Given the description of an element on the screen output the (x, y) to click on. 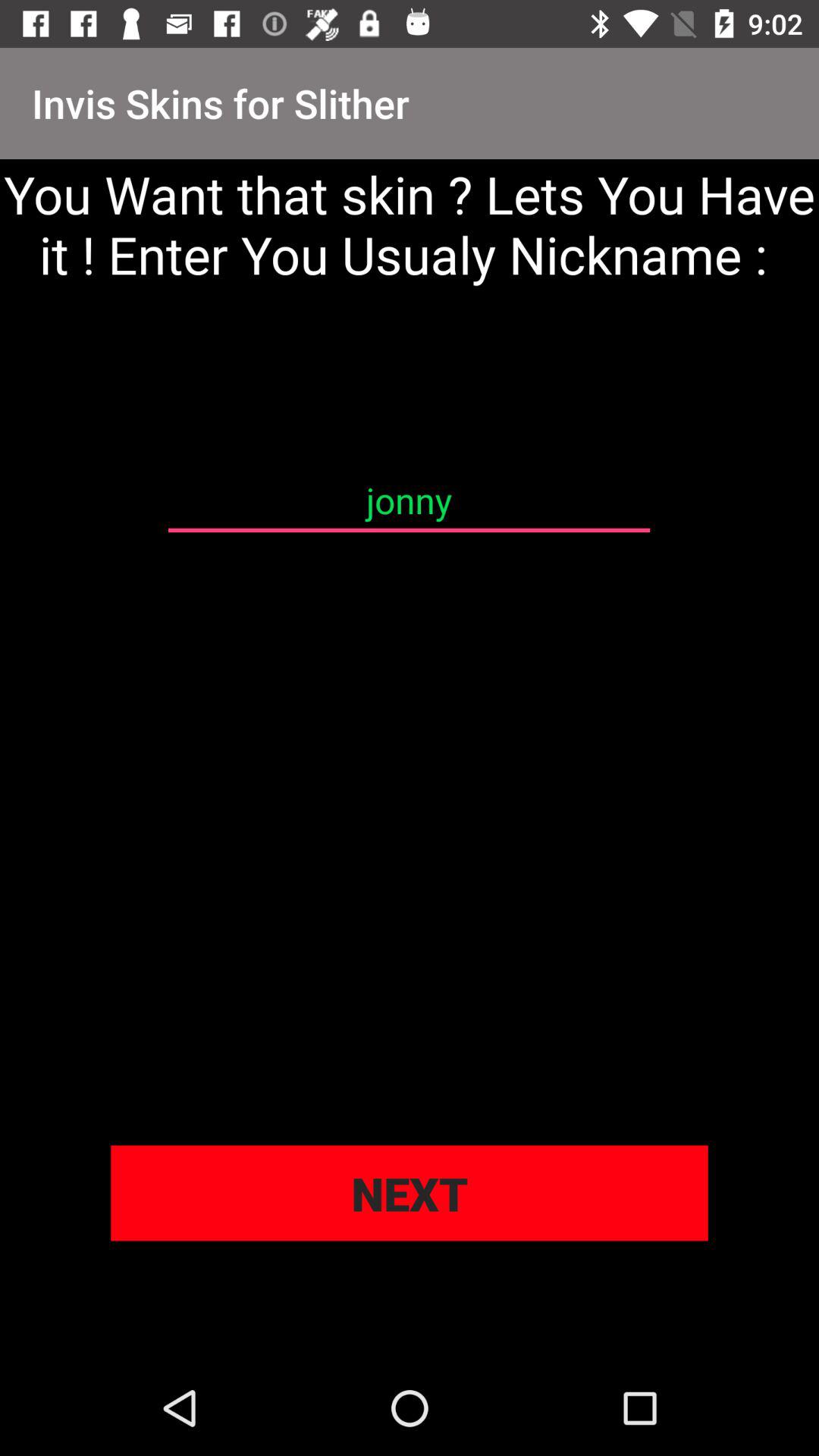
select icon at the center (409, 501)
